Given the description of an element on the screen output the (x, y) to click on. 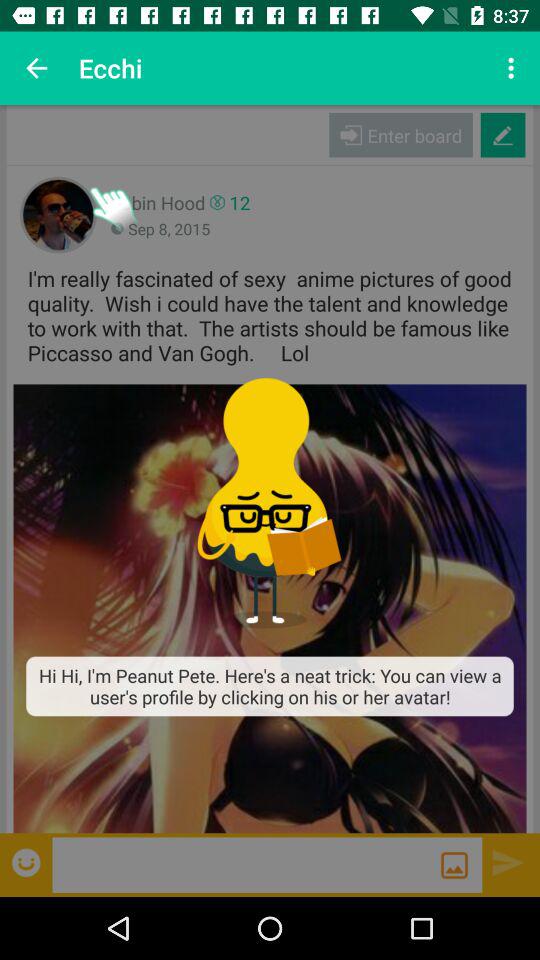
send the message (454, 865)
